Given the description of an element on the screen output the (x, y) to click on. 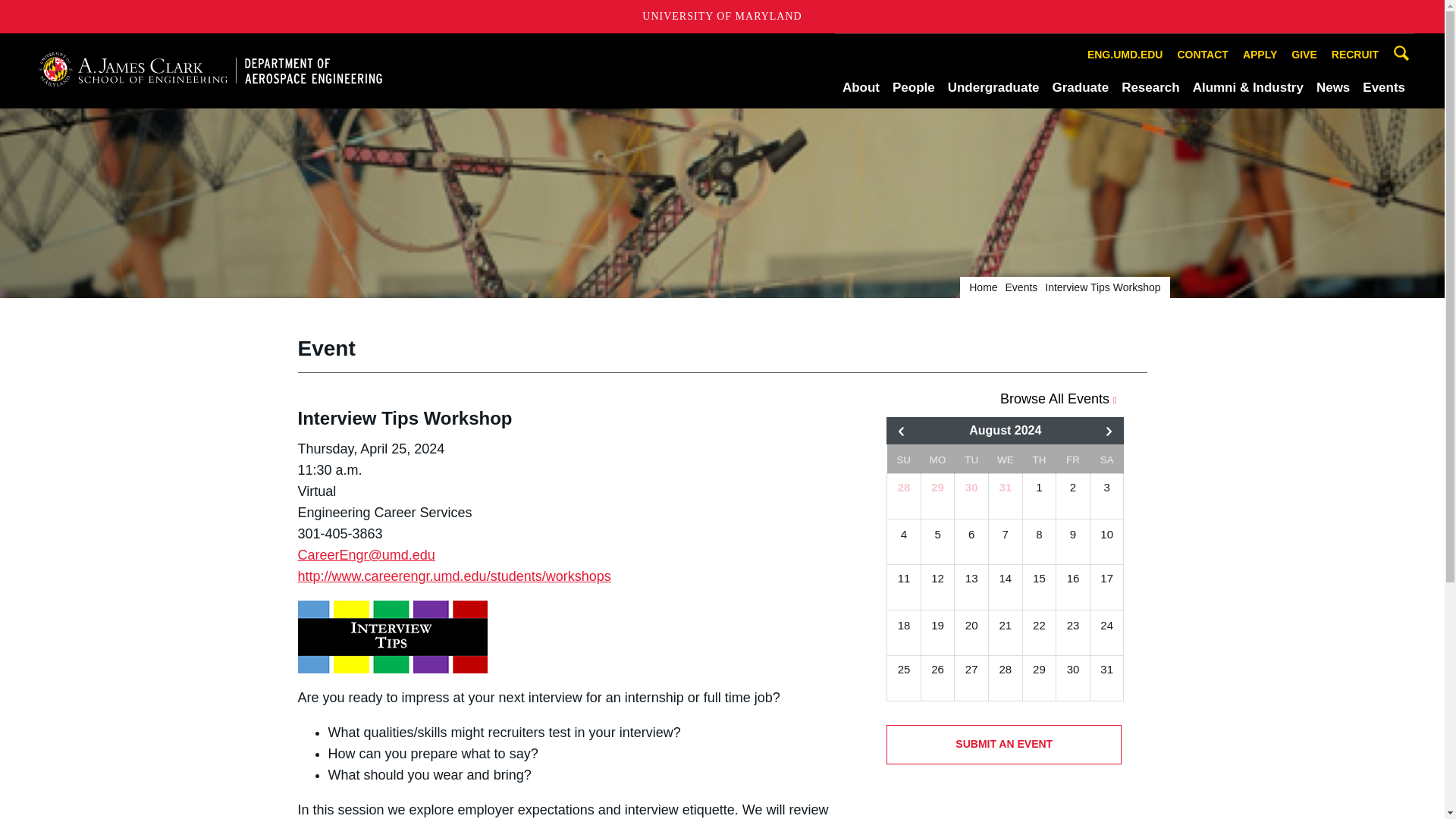
A. James Clark School of Engineering, University of Maryland (209, 69)
People (913, 87)
Undergraduate (993, 87)
RECRUIT (1355, 54)
APPLY (1259, 54)
ENG.UMD.EDU (1125, 54)
GIVE (1303, 54)
CONTACT (1202, 54)
UNIVERSITY OF MARYLAND (722, 16)
About (861, 87)
